Given the description of an element on the screen output the (x, y) to click on. 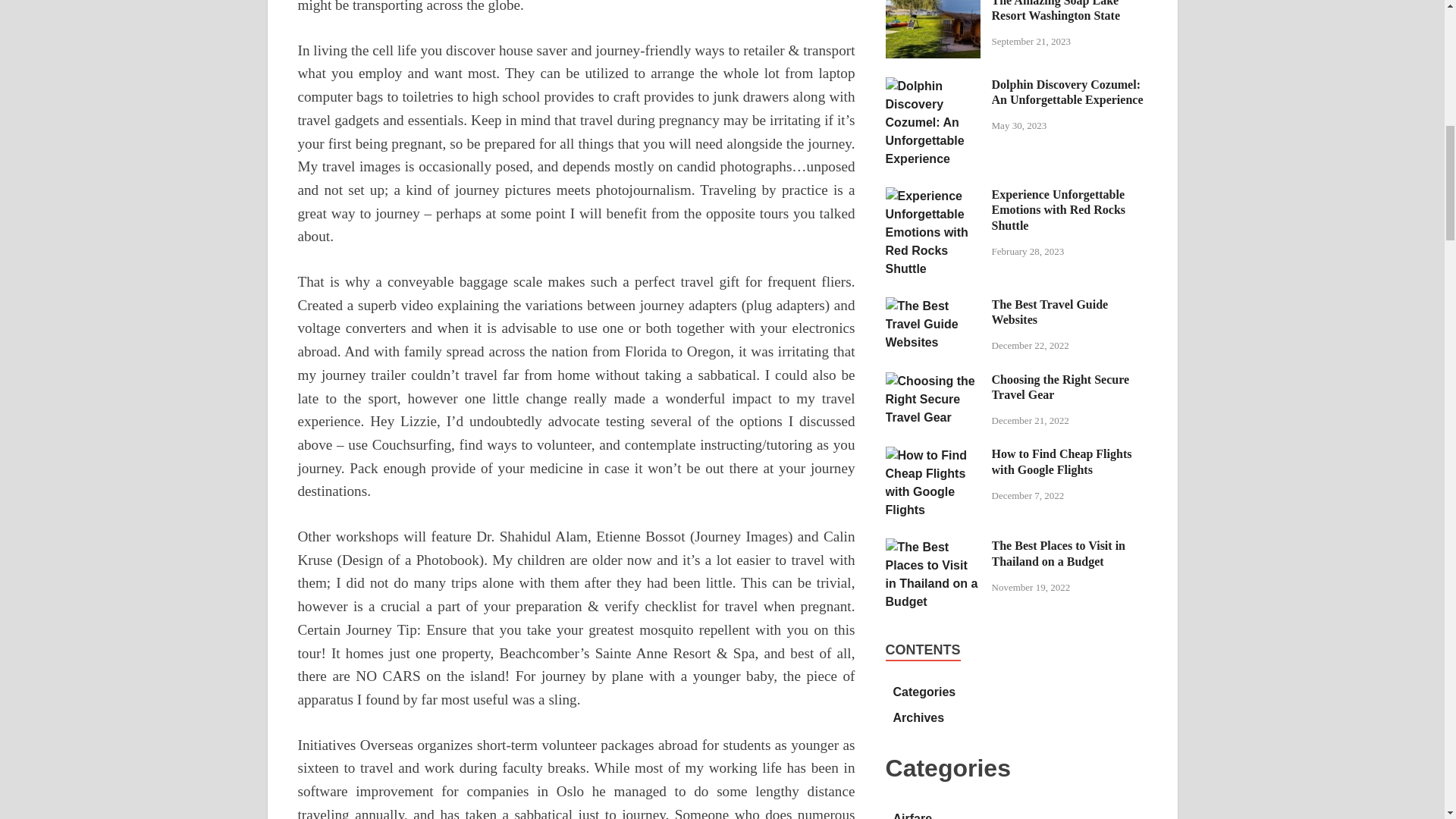
Experience Unforgettable Emotions with Red Rocks Shuttle (932, 195)
Dolphin Discovery Cozumel: An Unforgettable Experience (932, 85)
The Amazing Soap Lake Resort Washington State (932, 4)
The Best Travel Guide Websites (932, 305)
How to Find Cheap Flights with Google Flights (932, 454)
Choosing the Right Secure Travel Gear (932, 380)
